Given the description of an element on the screen output the (x, y) to click on. 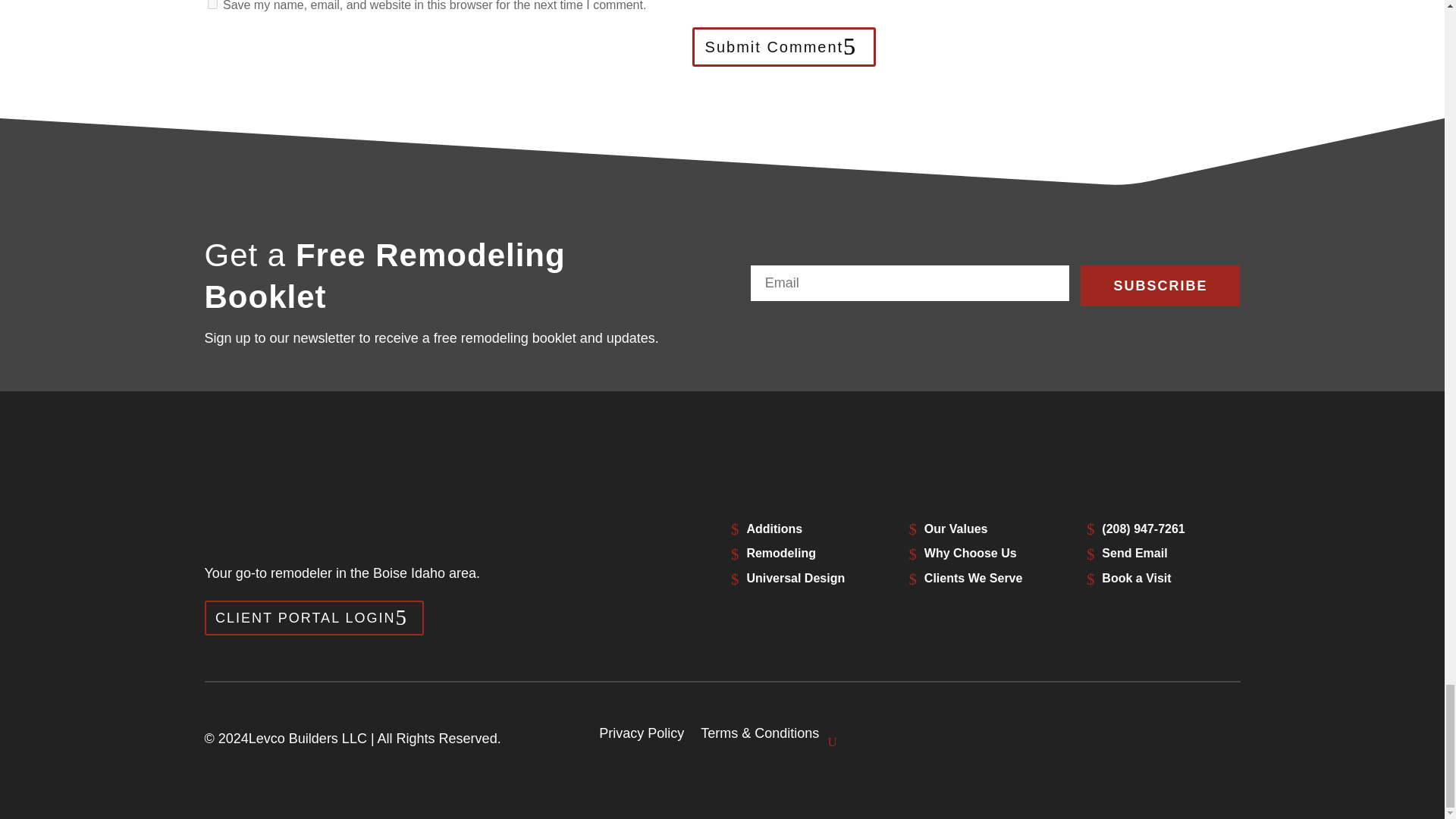
yes (212, 4)
